Given the description of an element on the screen output the (x, y) to click on. 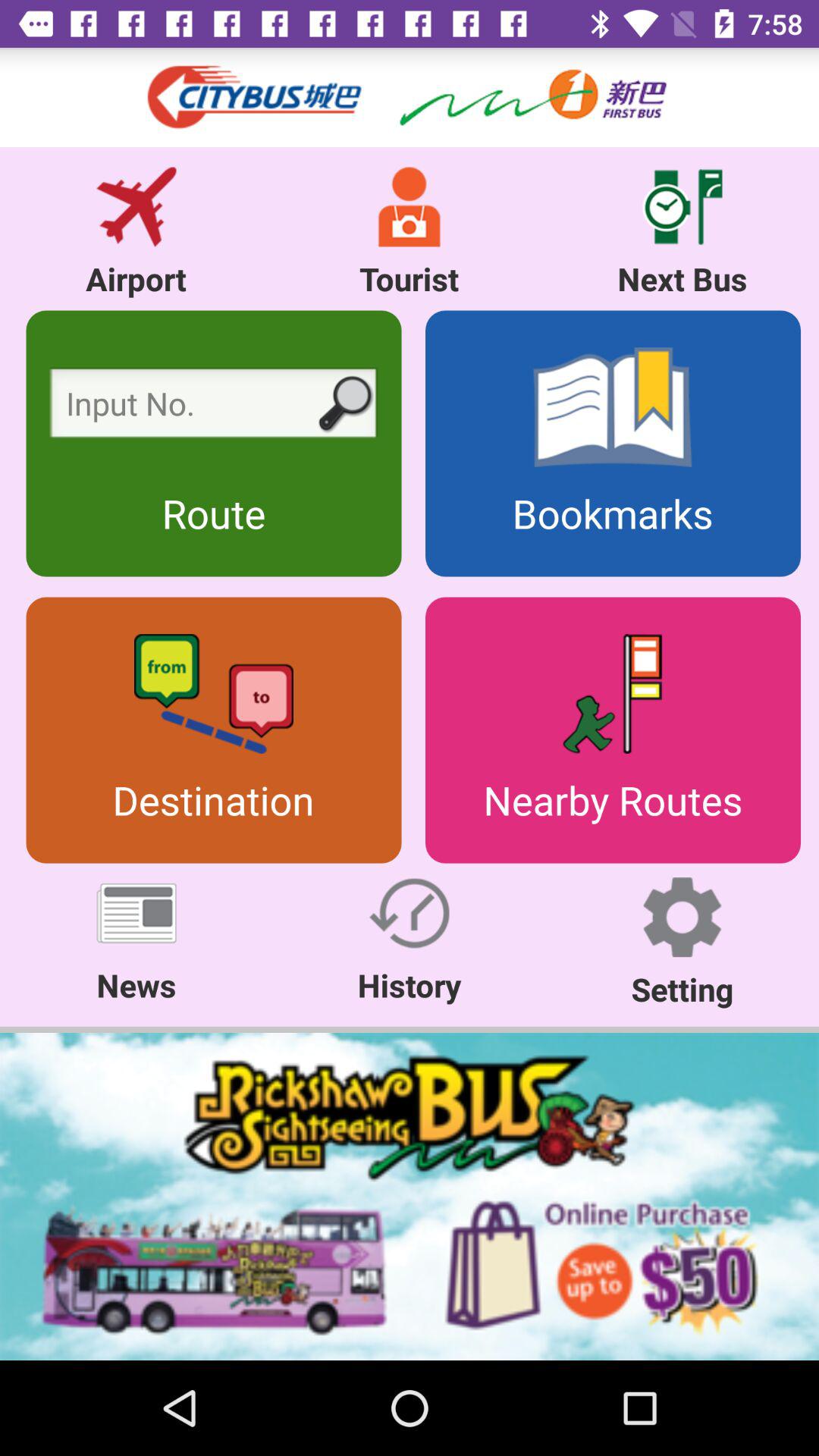
input route number (213, 407)
